Given the description of an element on the screen output the (x, y) to click on. 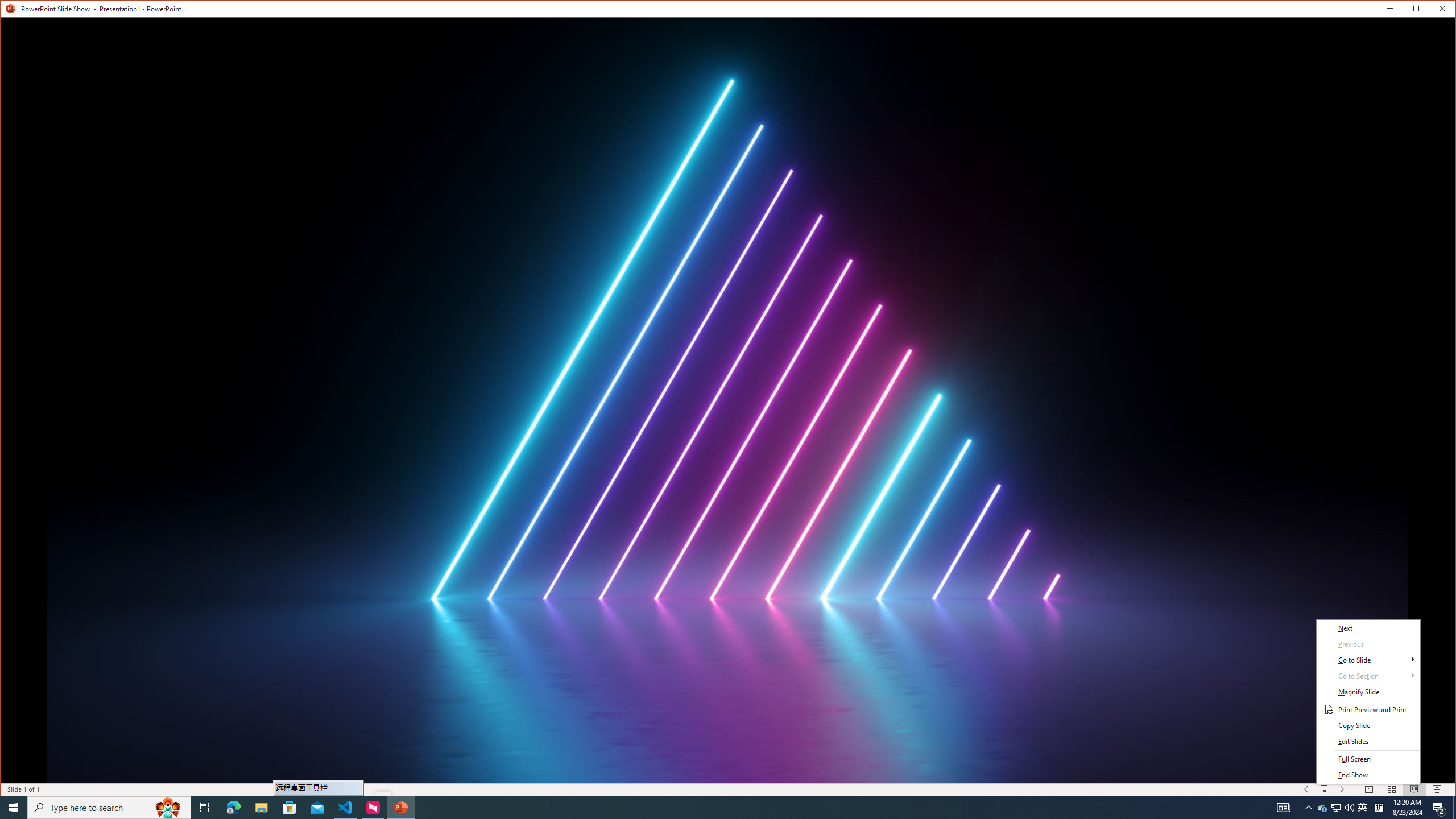
Show desktop (1454, 807)
Previous (1368, 644)
Full Screen (1368, 759)
Go to Slide (1368, 660)
Copy Slide (1368, 725)
Maximize (1432, 11)
Type here to search (108, 807)
Context Menu (1368, 701)
Q2790: 100% (1349, 807)
Next (1368, 628)
End Show (1368, 774)
Microsoft Store (289, 807)
